Given the description of an element on the screen output the (x, y) to click on. 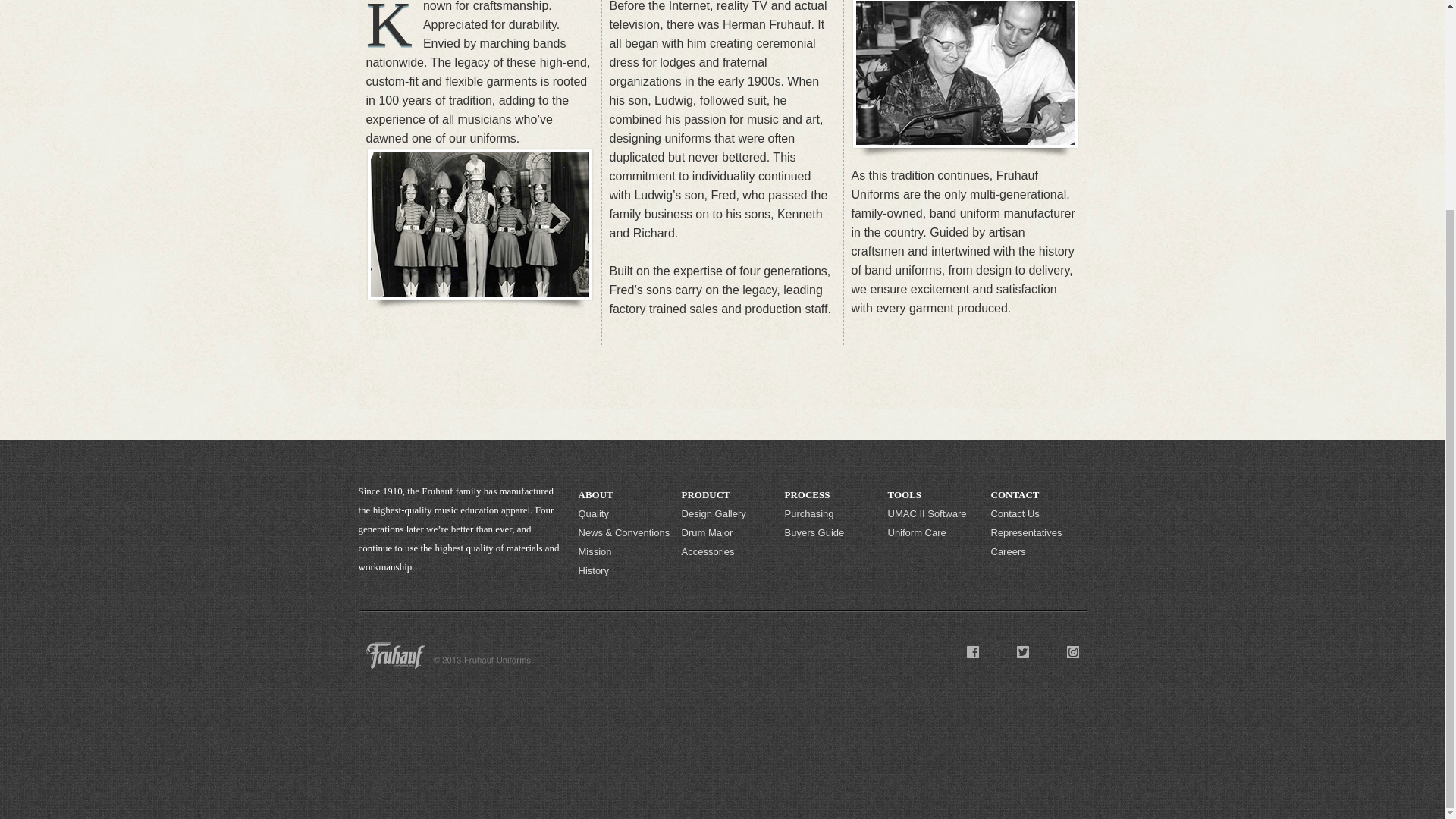
Uniform Care (934, 532)
Buyers Guide (831, 532)
UMAC II Software (934, 513)
PRODUCT (728, 494)
Mission (625, 551)
Drum Major (728, 532)
Design Gallery (728, 513)
TOOLS (934, 494)
ABOUT (625, 494)
PROCESS (831, 494)
Quality (625, 513)
History (625, 570)
Accessories (728, 551)
Purchasing (831, 513)
